Given the description of an element on the screen output the (x, y) to click on. 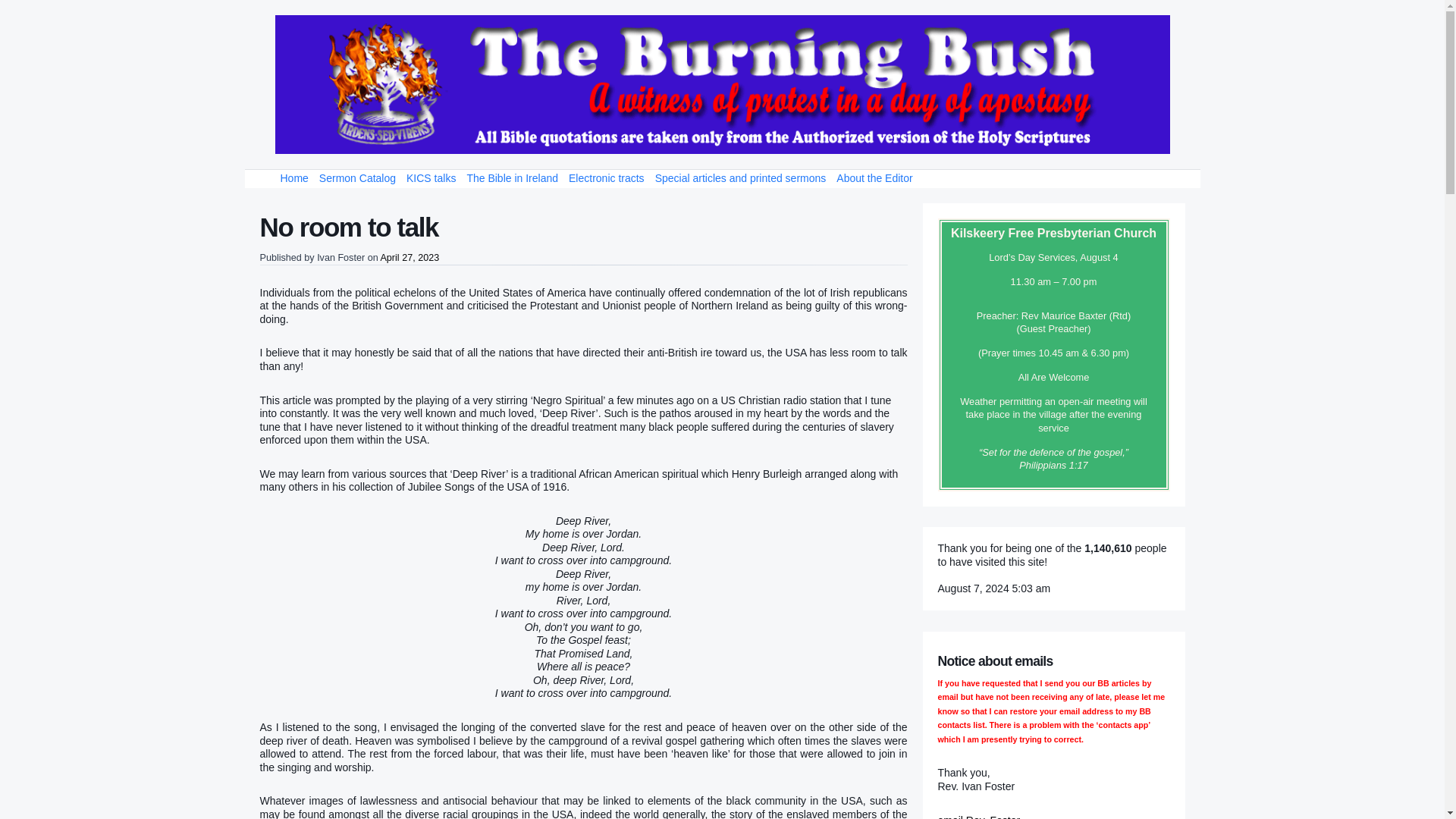
Special articles and printed sermons (740, 179)
KICS talks (431, 179)
April 27, 2023 (409, 257)
Home (294, 179)
The Bible in Ireland (512, 179)
Electronic tracts (606, 179)
About the Editor (874, 179)
A witness of protest in a day of apostasy (722, 84)
5:20 pm (409, 257)
Sermon Catalog (357, 179)
email Rev. Foster (978, 816)
